Given the description of an element on the screen output the (x, y) to click on. 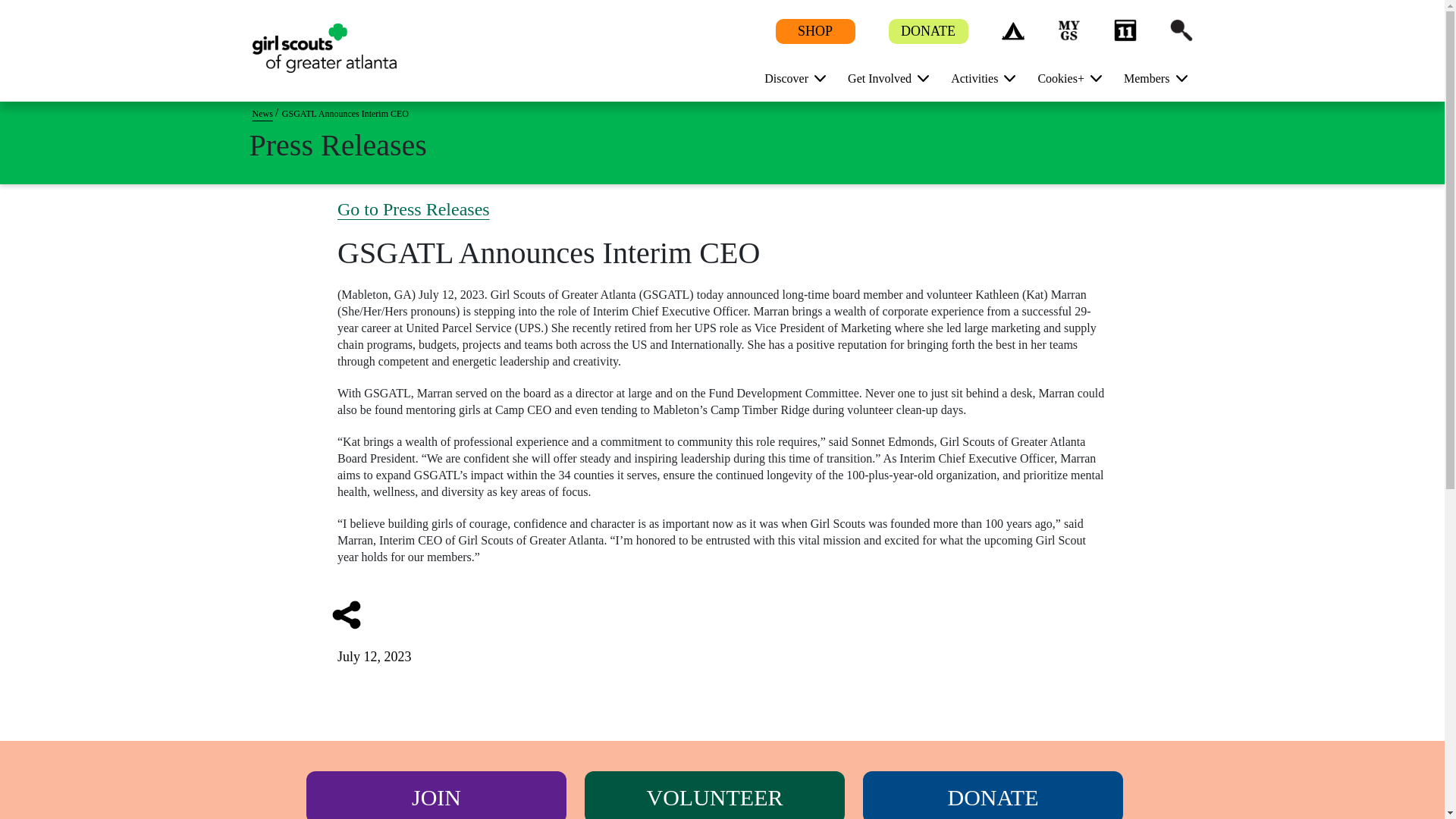
Search (1180, 29)
Get Involved (882, 77)
Camp (1012, 29)
MyGS (1068, 29)
Events (1124, 29)
SHOP (814, 31)
DONATE (928, 31)
Discover (789, 77)
